Given the description of an element on the screen output the (x, y) to click on. 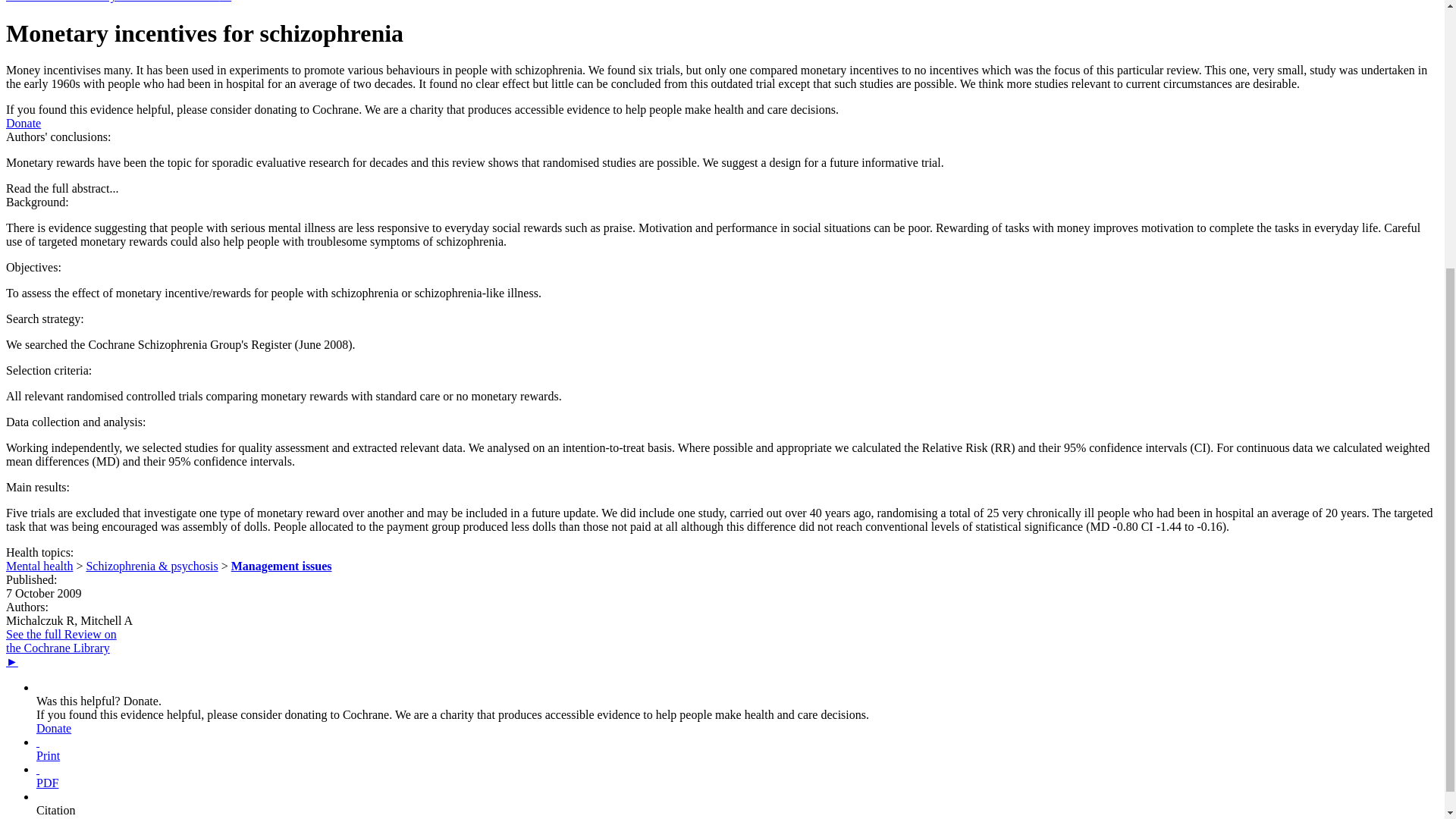
Management issues (281, 565)
Mental health (38, 565)
Donate (22, 123)
Donate (53, 727)
